Given the description of an element on the screen output the (x, y) to click on. 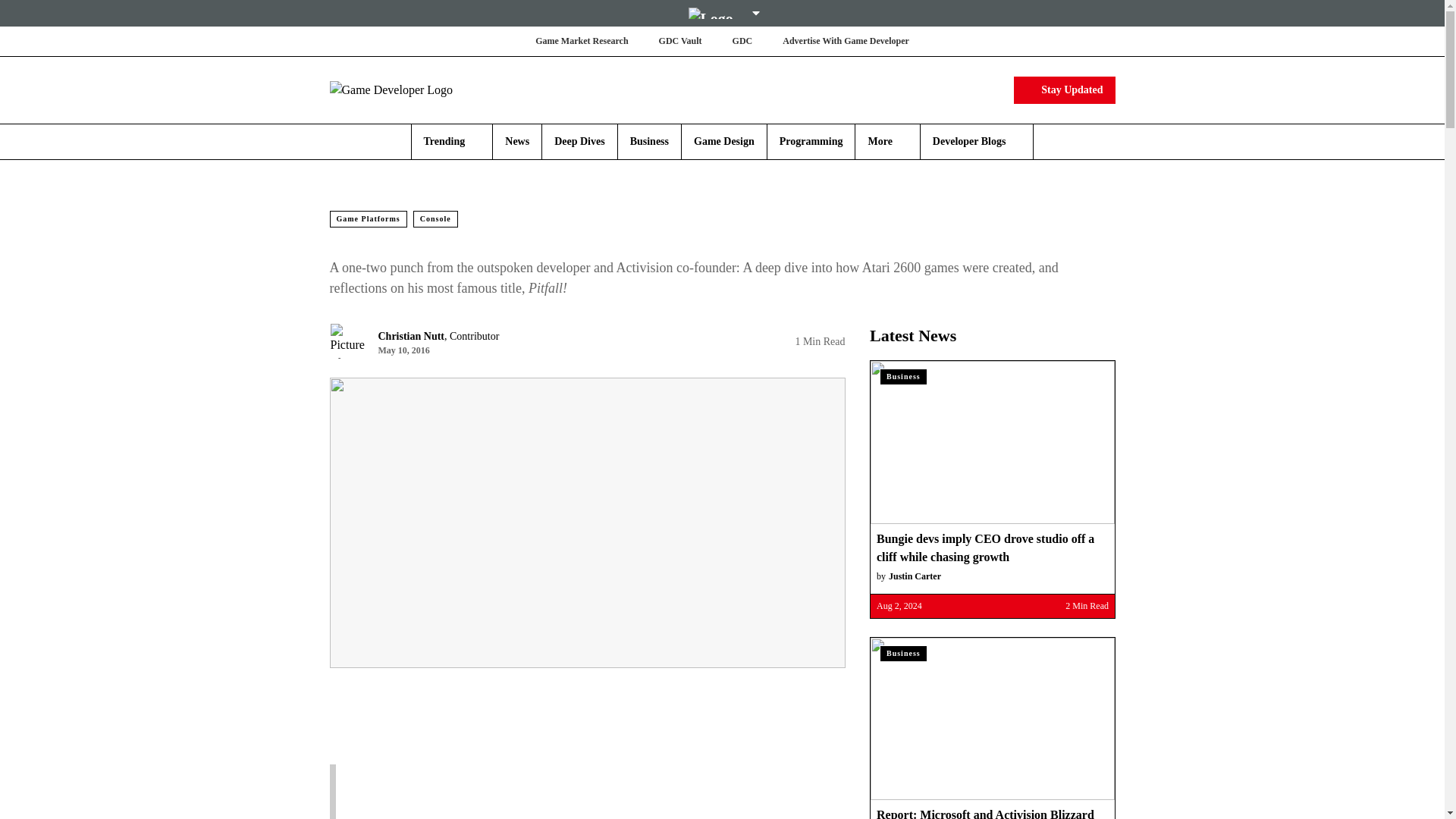
Game Developer Logo (419, 90)
GDC (742, 41)
Picture of Christian Nutt (347, 340)
Advertise With Game Developer (845, 41)
Stay Updated (1064, 89)
Programming (810, 141)
Game Market Research (581, 41)
News (517, 141)
GDC Vault (680, 41)
Business (649, 141)
Game Design (724, 141)
Deep Dives (579, 141)
